Given the description of an element on the screen output the (x, y) to click on. 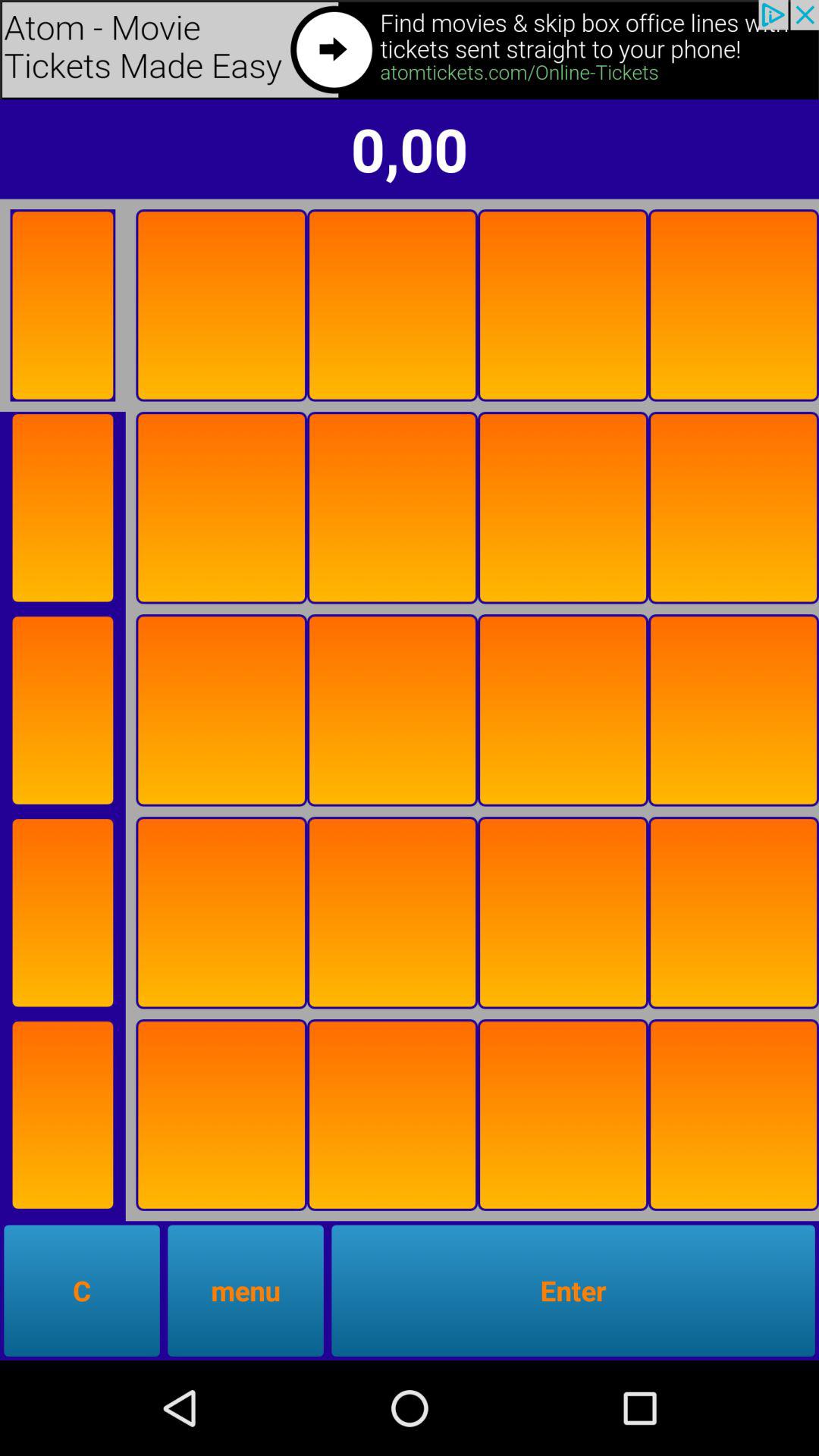
select section (62, 912)
